Given the description of an element on the screen output the (x, y) to click on. 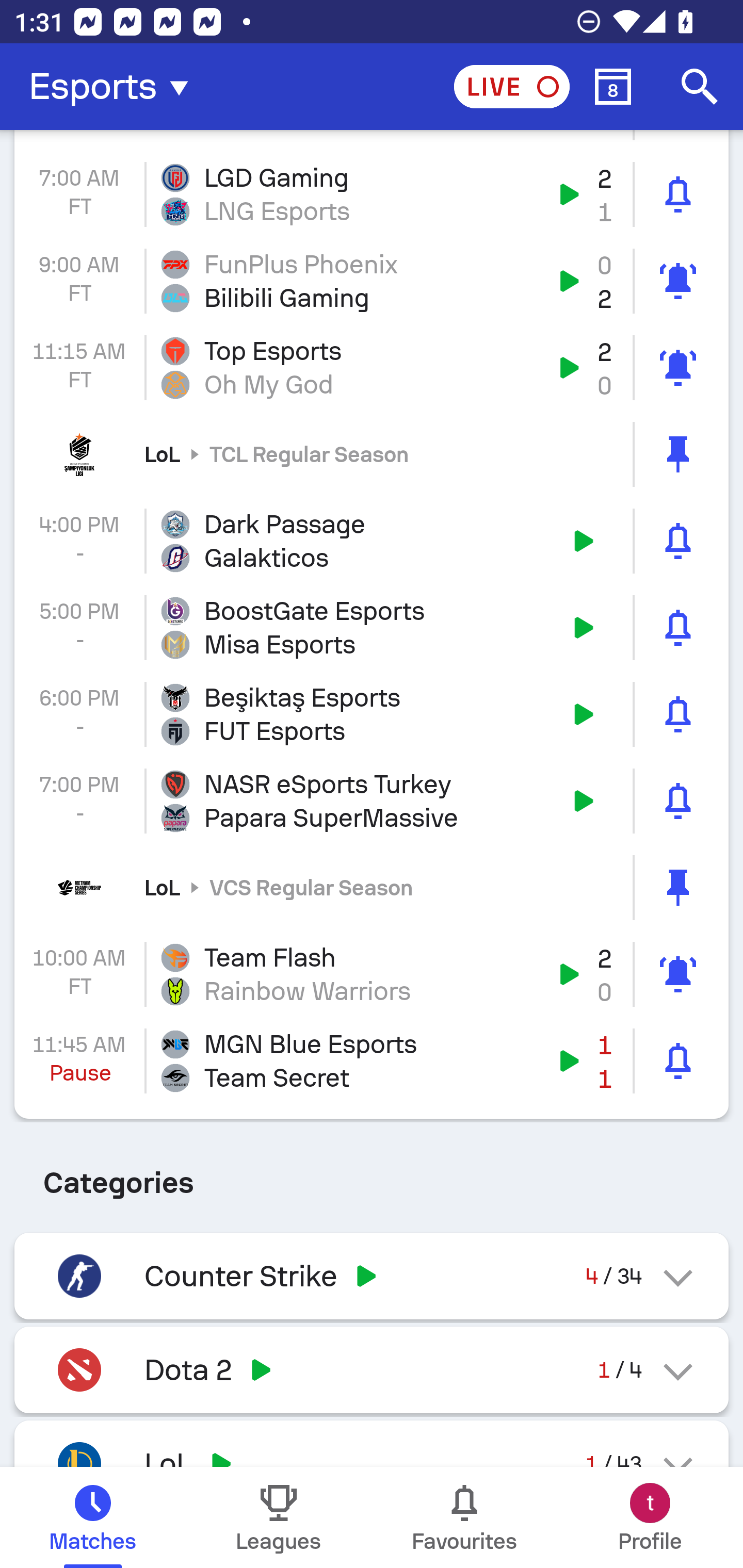
Esports (114, 86)
Calendar (612, 86)
Search (699, 86)
7:00 AM FT LGD Gaming LNG Esports 2 1 (371, 194)
9:00 AM FT FunPlus Phoenix Bilibili Gaming 0 2 (371, 281)
11:15 AM FT Top Esports Oh My God 2 0 (371, 367)
LoL TCL Regular Season (371, 453)
4:00 PM - Dark Passage Galakticos (371, 540)
5:00 PM - BoostGate Esports Misa Esports (371, 627)
6:00 PM - Beşiktaş Esports FUT Esports (371, 714)
7:00 PM - NASR eSports Turkey Papara SuperMassive (371, 800)
LoL VCS Regular Season (371, 887)
10:00 AM FT Team Flash Rainbow Warriors 2 0 (371, 974)
11:45 AM Pause MGN Blue Esports Team Secret 1 1 (371, 1060)
Categories (371, 1175)
Counter Strike 4 / 34 (371, 1275)
Dota 2 1 / 4 (371, 1369)
Leagues (278, 1517)
Favourites (464, 1517)
Profile (650, 1517)
